Given the description of an element on the screen output the (x, y) to click on. 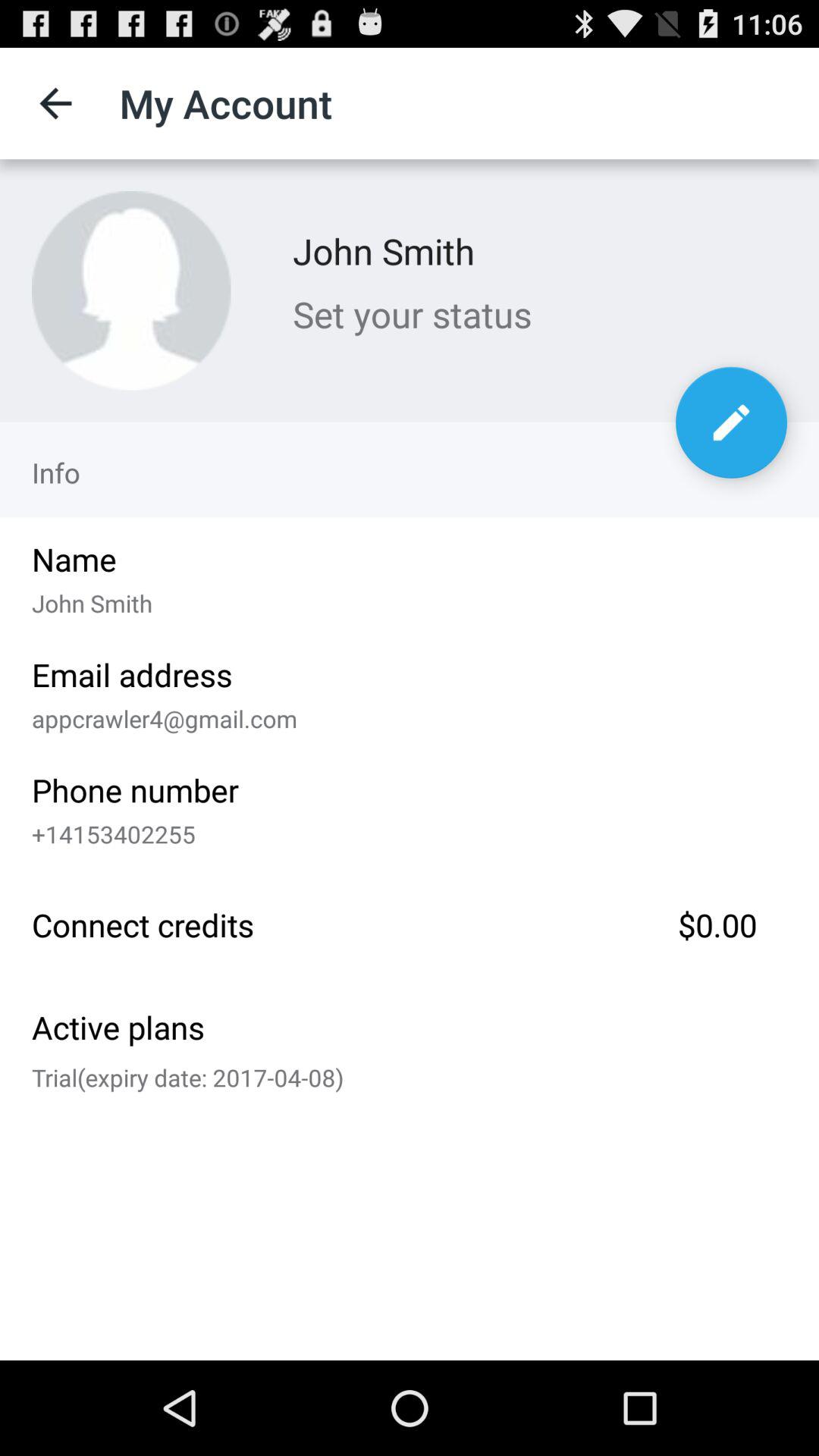
select text above active plans (409, 921)
select the text below phone number (404, 830)
